Given the description of an element on the screen output the (x, y) to click on. 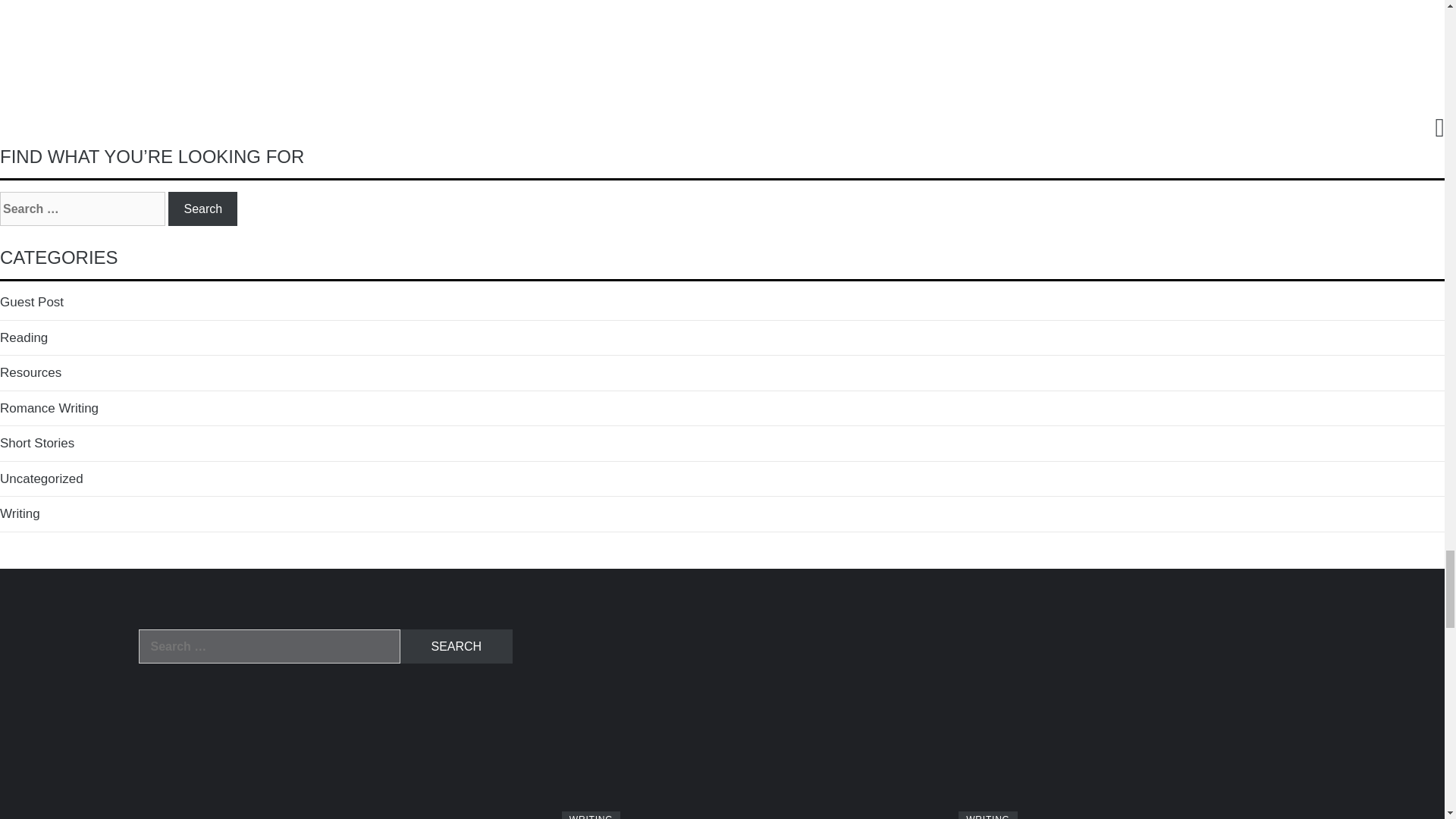
Search (202, 208)
Search (202, 208)
Search (456, 646)
Search (456, 646)
